Given the description of an element on the screen output the (x, y) to click on. 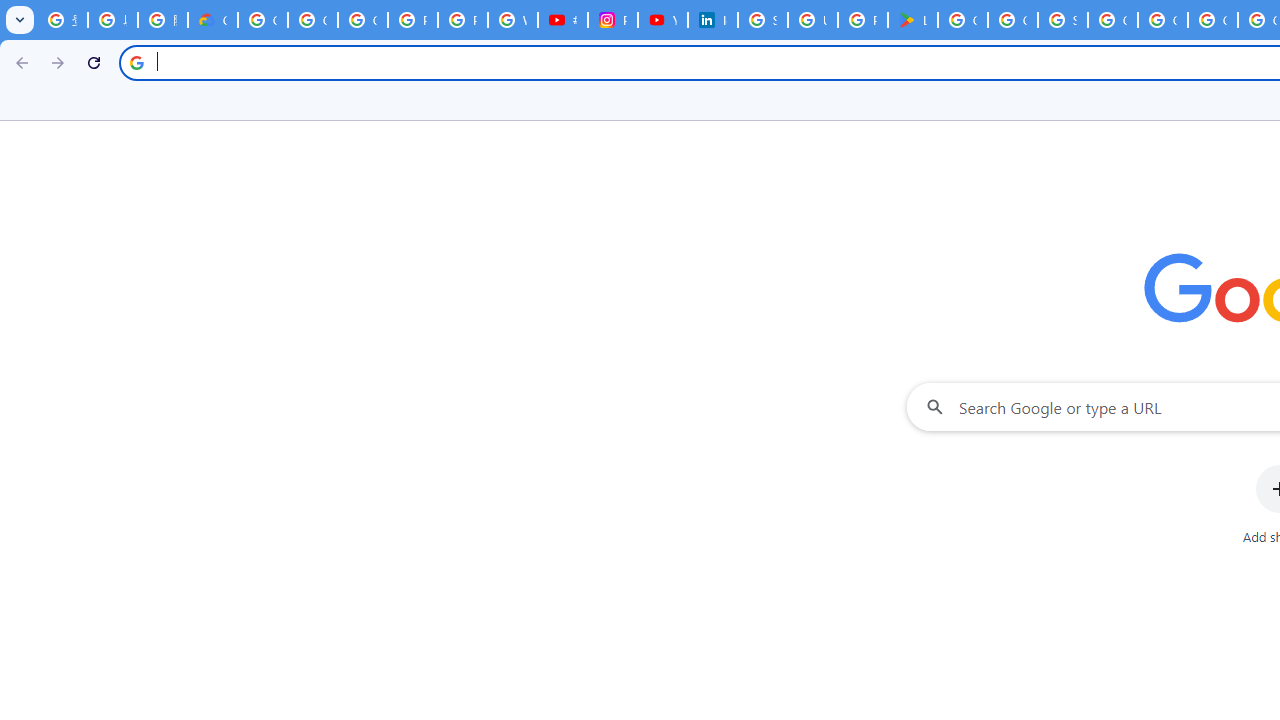
Privacy Help Center - Policies Help (462, 20)
Sign in - Google Accounts (1062, 20)
#nbabasketballhighlights - YouTube (562, 20)
Privacy Help Center - Policies Help (412, 20)
Google Cloud Platform (1162, 20)
YouTube Culture & Trends - On The Rise: Handcam Videos (662, 20)
